Given the description of an element on the screen output the (x, y) to click on. 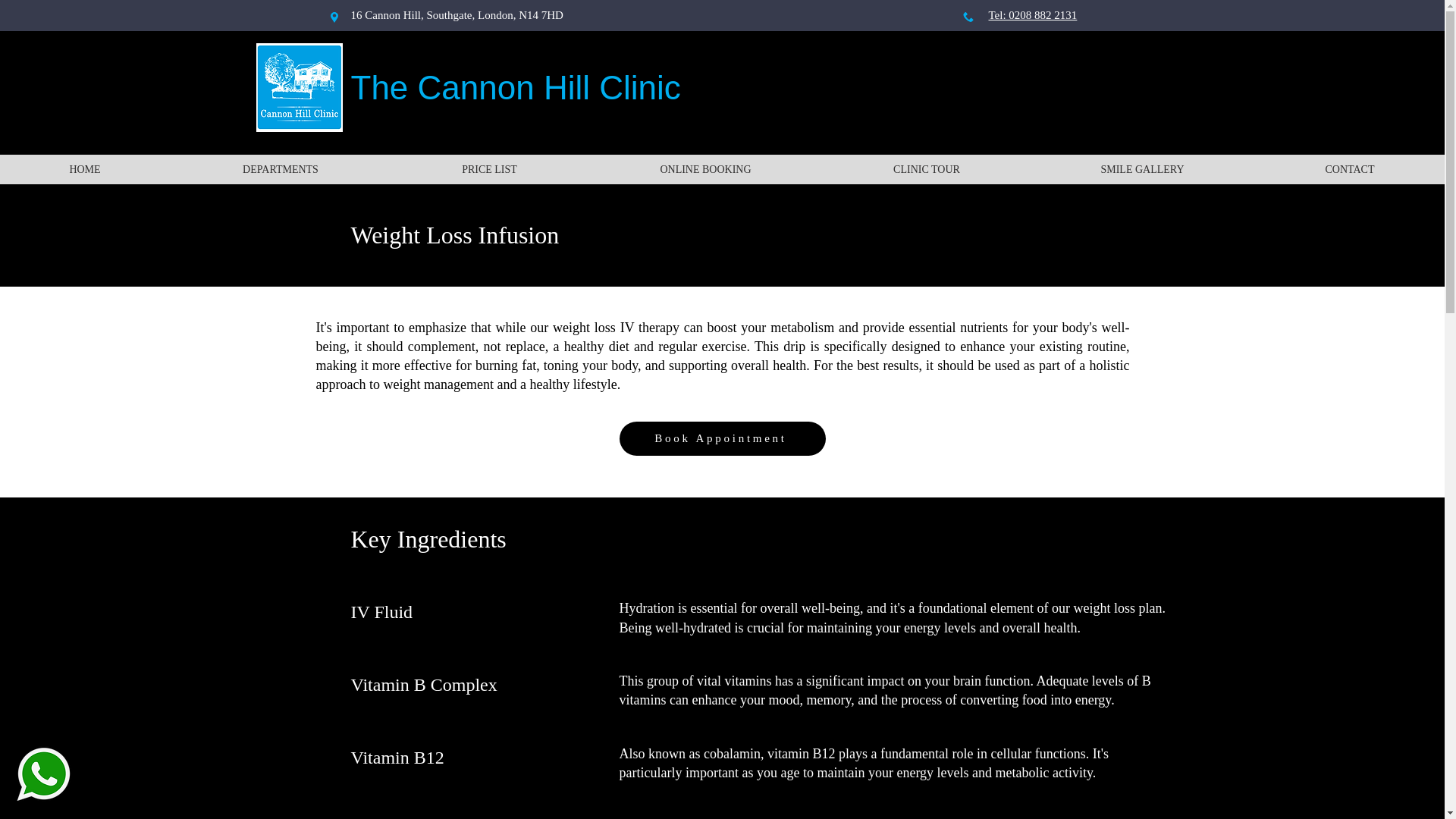
Tel: 0208 882 2131 (1032, 15)
Book Appointment (721, 438)
CLINIC TOUR (926, 169)
get-logo-whatsapp-png-pictures-1.png (42, 774)
SMILE GALLERY (1142, 169)
PRICE LIST (489, 169)
HOME (85, 169)
ONLINE BOOKING (706, 169)
